Given the description of an element on the screen output the (x, y) to click on. 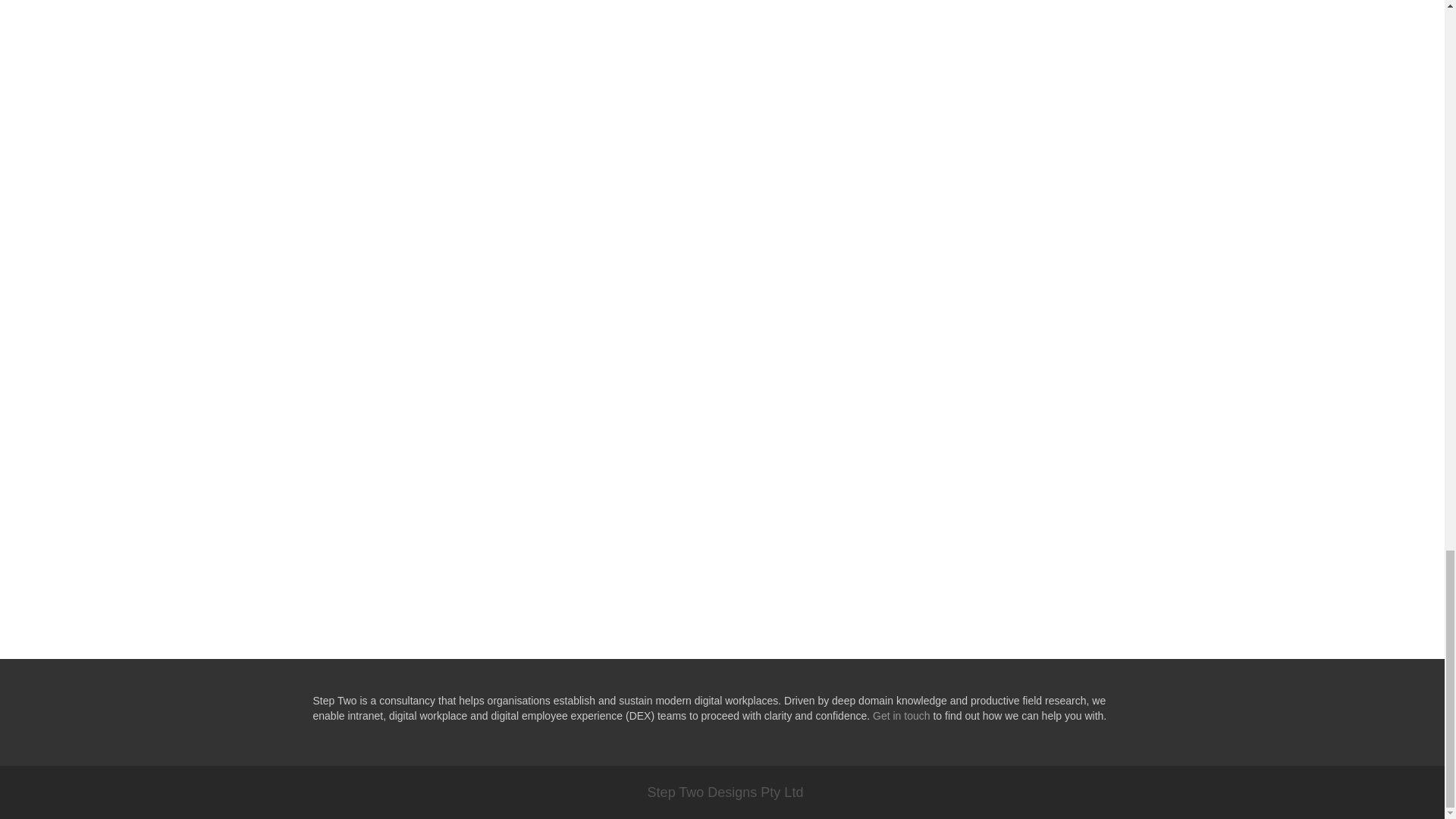
Get in touch (901, 715)
